Given the description of an element on the screen output the (x, y) to click on. 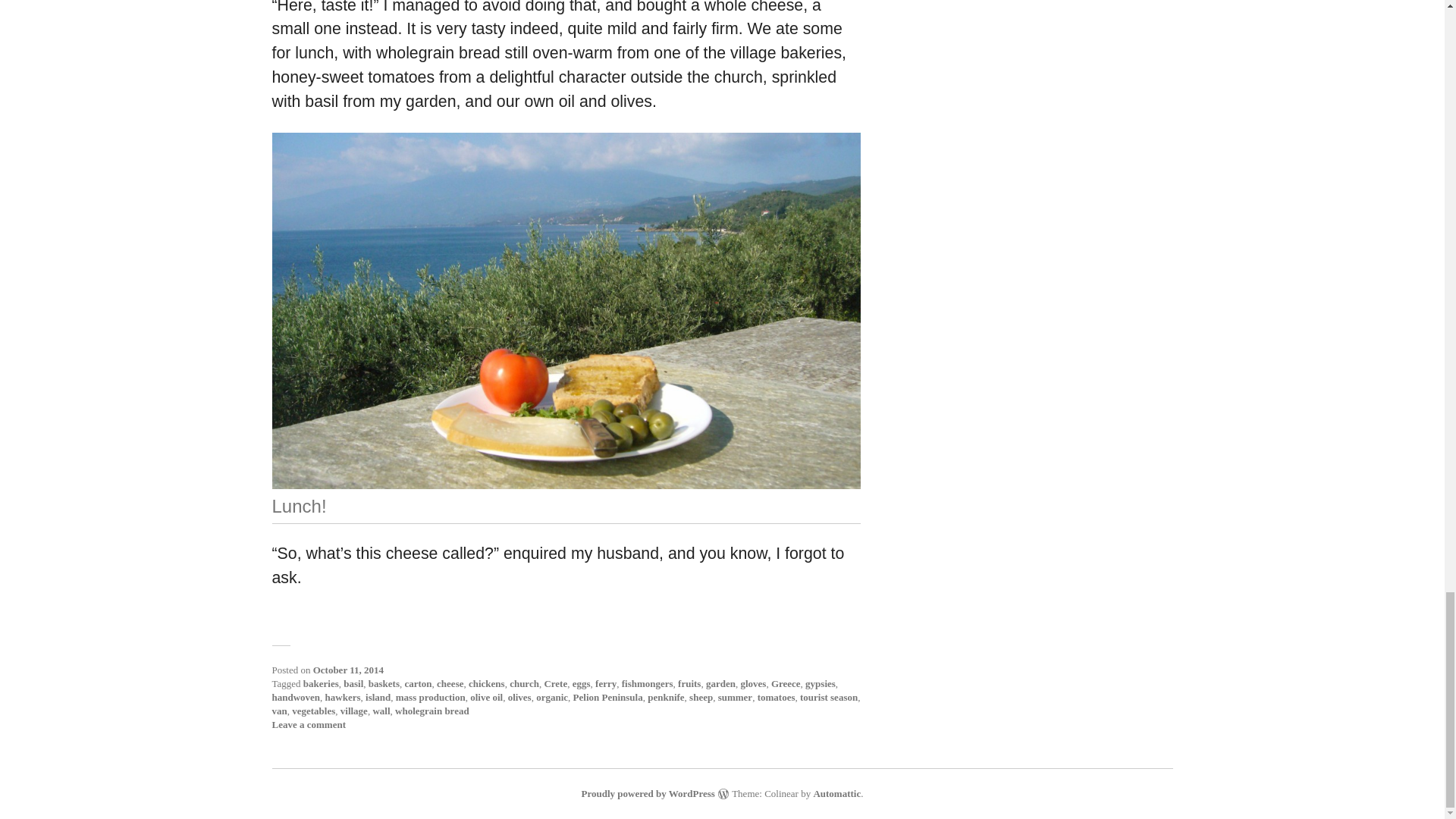
summer (734, 696)
fishmongers (646, 683)
organic (551, 696)
ferry (605, 683)
hawkers (342, 696)
gypsies (820, 683)
mass production (430, 696)
fruits (689, 683)
basil (352, 683)
October 11, 2014 (348, 669)
Pelion Peninsula (608, 696)
Crete (555, 683)
church (523, 683)
tourist season (828, 696)
van (278, 710)
